Given the description of an element on the screen output the (x, y) to click on. 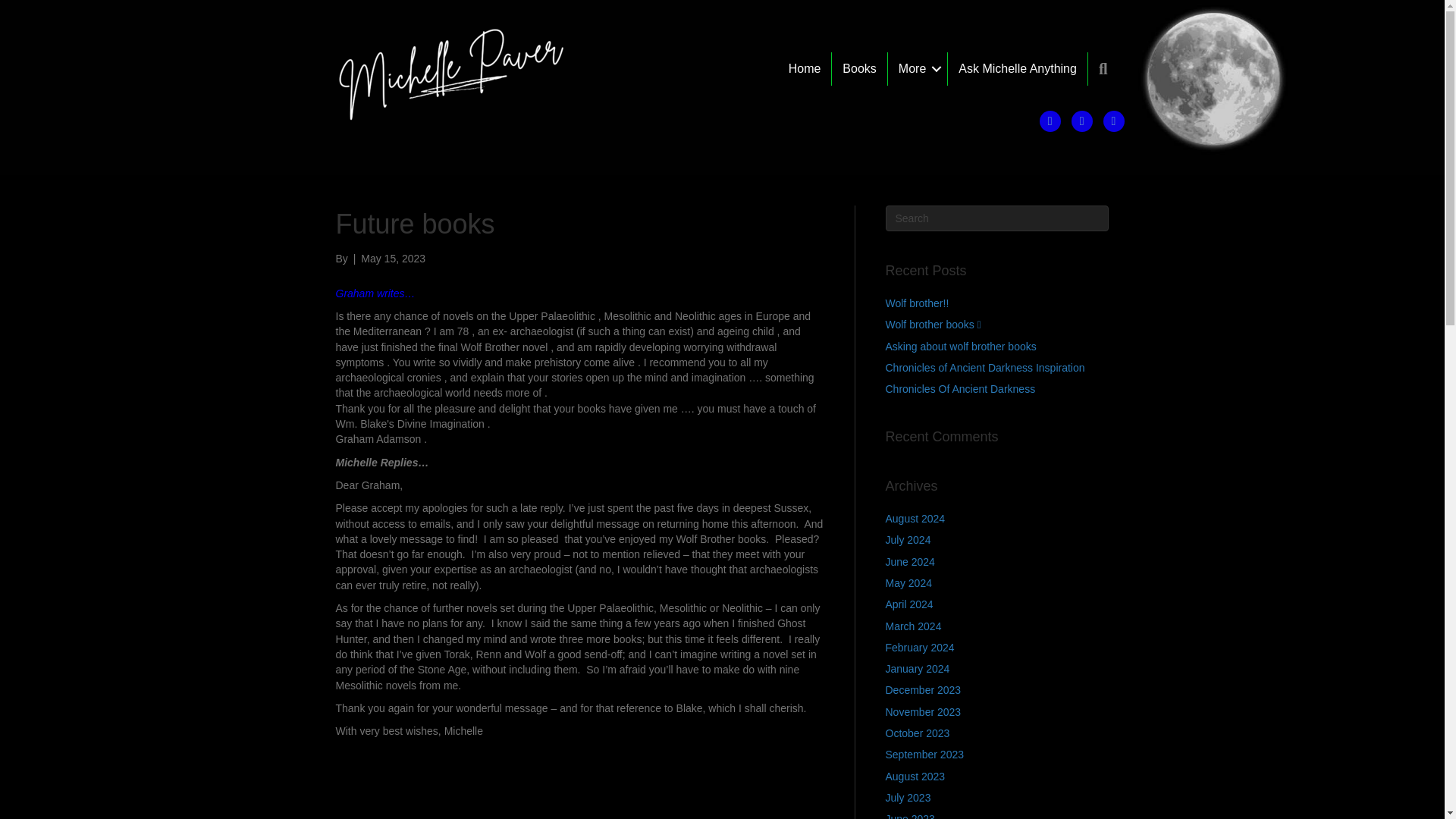
June 2023 (909, 816)
June 2024 (909, 562)
December 2023 (922, 689)
July 2024 (908, 539)
Wolf brother!! (917, 303)
Chronicles of Ancient Darkness Inspiration (984, 367)
August 2023 (914, 776)
More (917, 68)
September 2023 (924, 754)
October 2023 (917, 733)
